Given the description of an element on the screen output the (x, y) to click on. 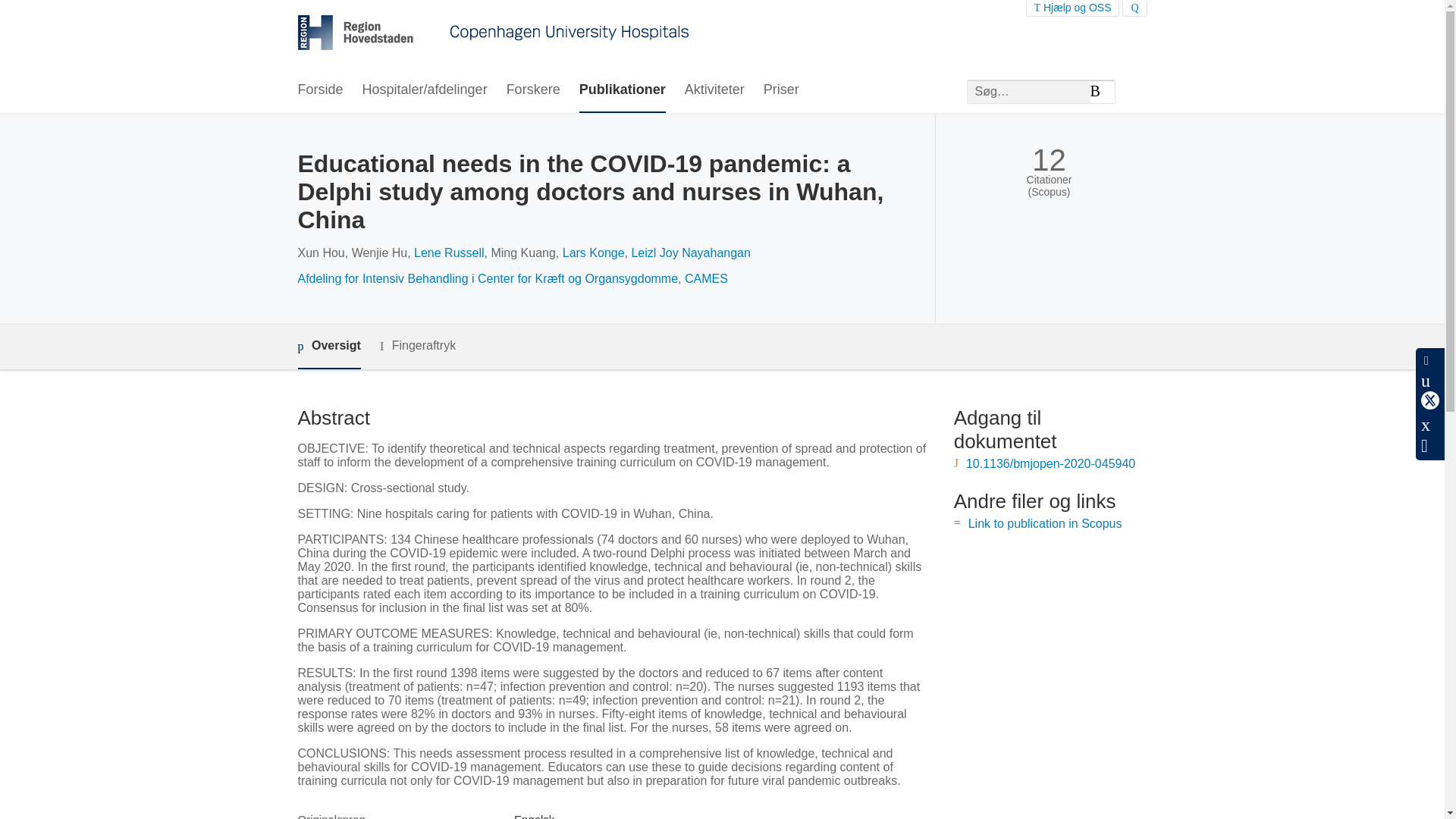
Lene Russell (448, 252)
Lars Konge (593, 252)
Oversigt (328, 346)
Region Hovedstadens forskningsportal Forside (492, 34)
Leizl Joy Nayahangan (689, 252)
CAMES (706, 278)
Aktiviteter (714, 90)
Forside (319, 90)
Publikationer (622, 90)
Fingeraftryk (417, 345)
Link to publication in Scopus (1045, 522)
Forskere (533, 90)
